Given the description of an element on the screen output the (x, y) to click on. 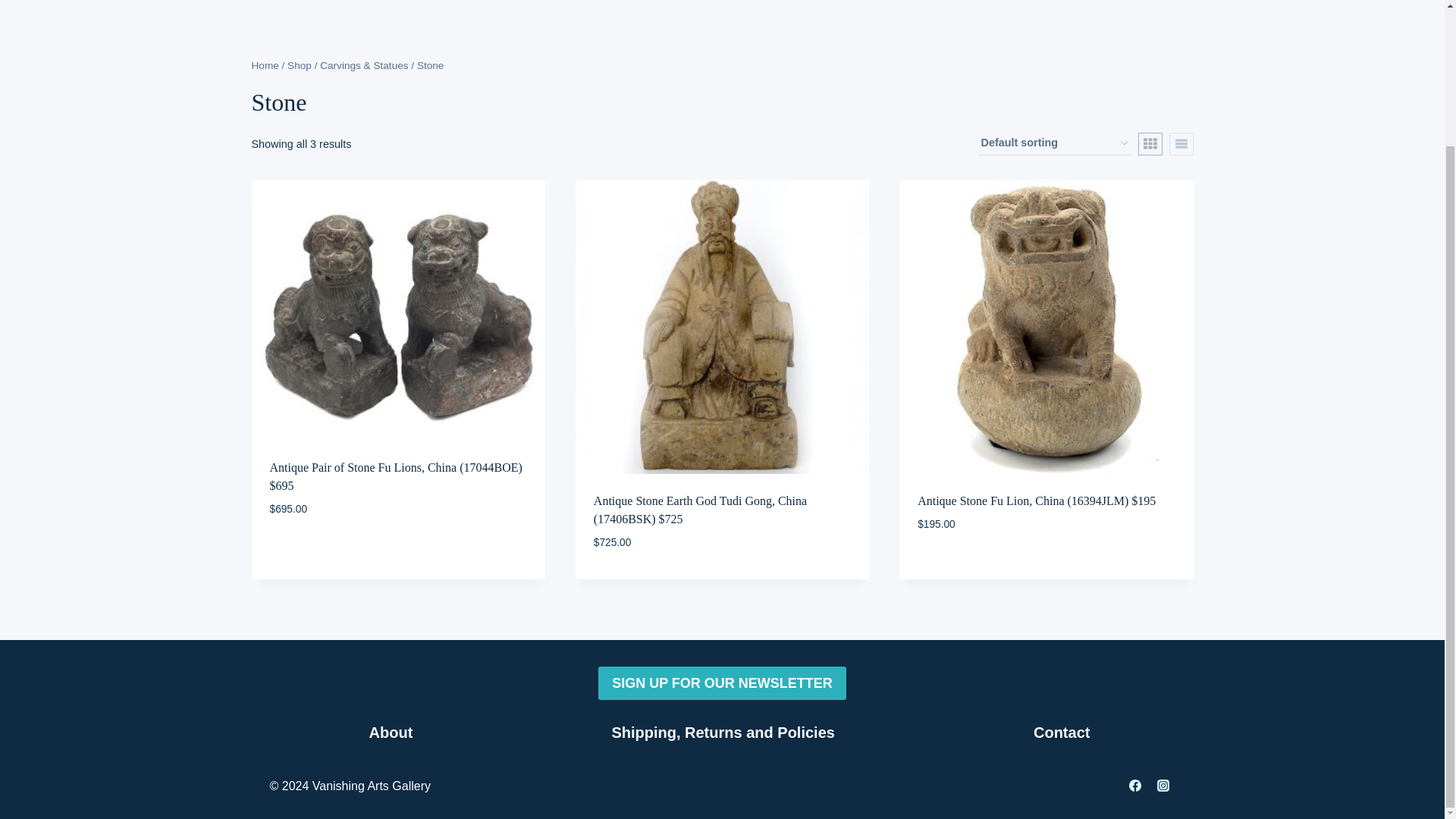
List View (1181, 143)
Grid View (1149, 143)
